Given the description of an element on the screen output the (x, y) to click on. 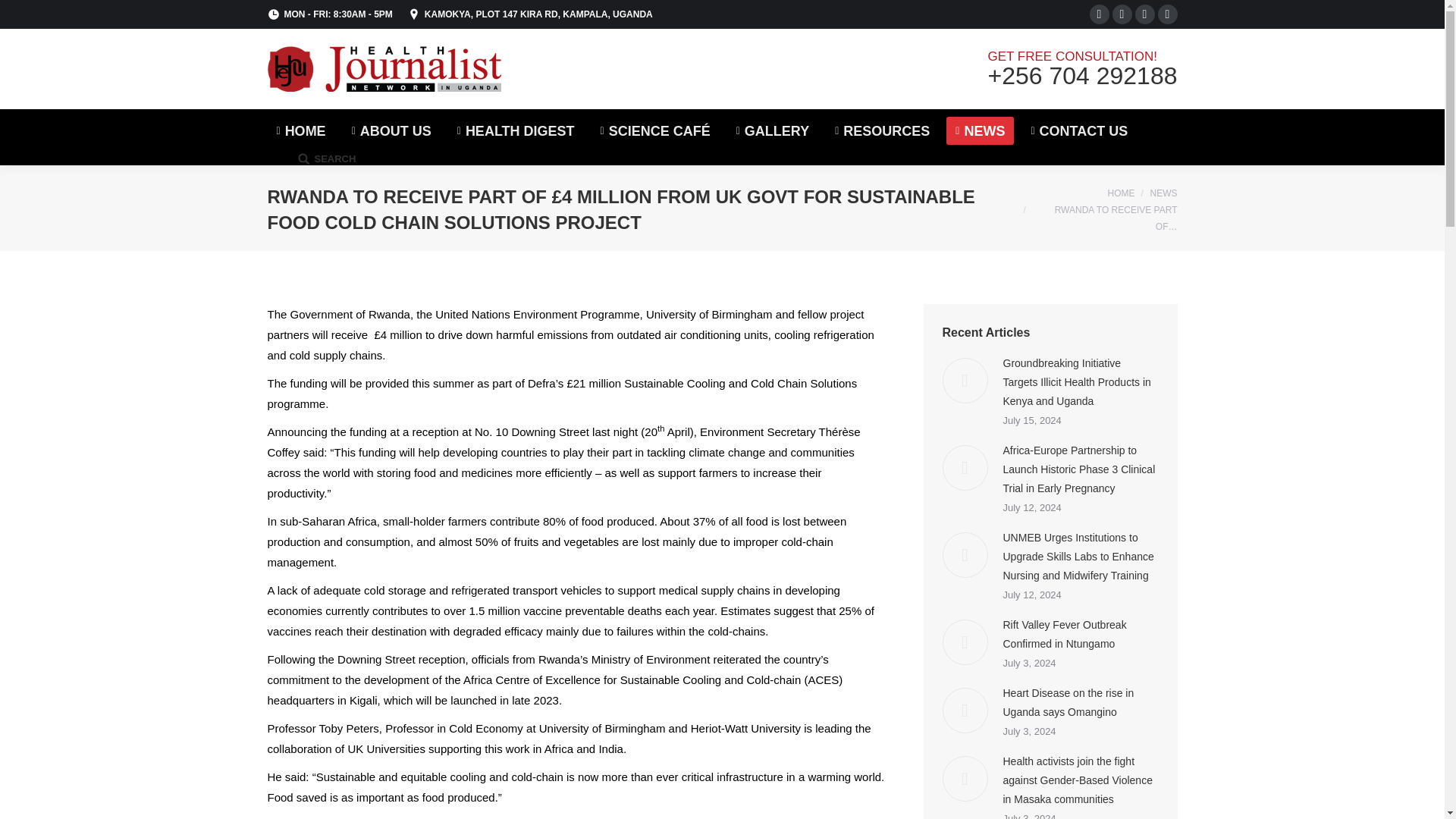
Twitter (1122, 14)
HOME (300, 130)
ABOUT US (391, 130)
RESOURCES (882, 130)
Facebook (1099, 14)
GALLERY (772, 130)
Rss (1167, 14)
Go! (21, 14)
CONTACT US (1079, 130)
Linkedin (1144, 14)
NEWS (979, 130)
Facebook (1099, 14)
Linkedin (1144, 14)
Twitter (1122, 14)
HEALTH DIGEST (515, 130)
